Given the description of an element on the screen output the (x, y) to click on. 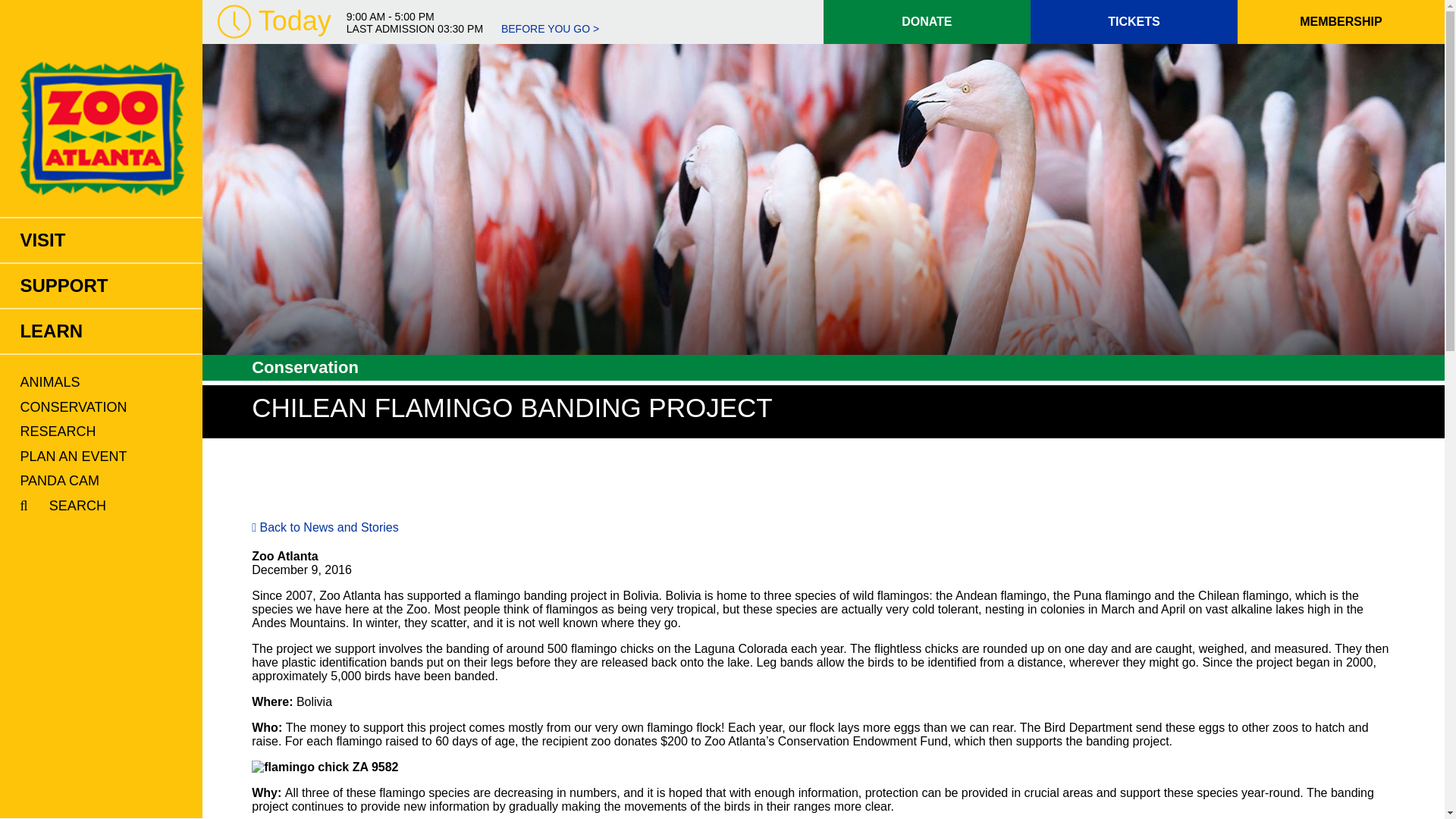
VISIT (101, 240)
Chilean Flamingo Banding Project 1 (324, 766)
SUPPORT (101, 285)
